Given the description of an element on the screen output the (x, y) to click on. 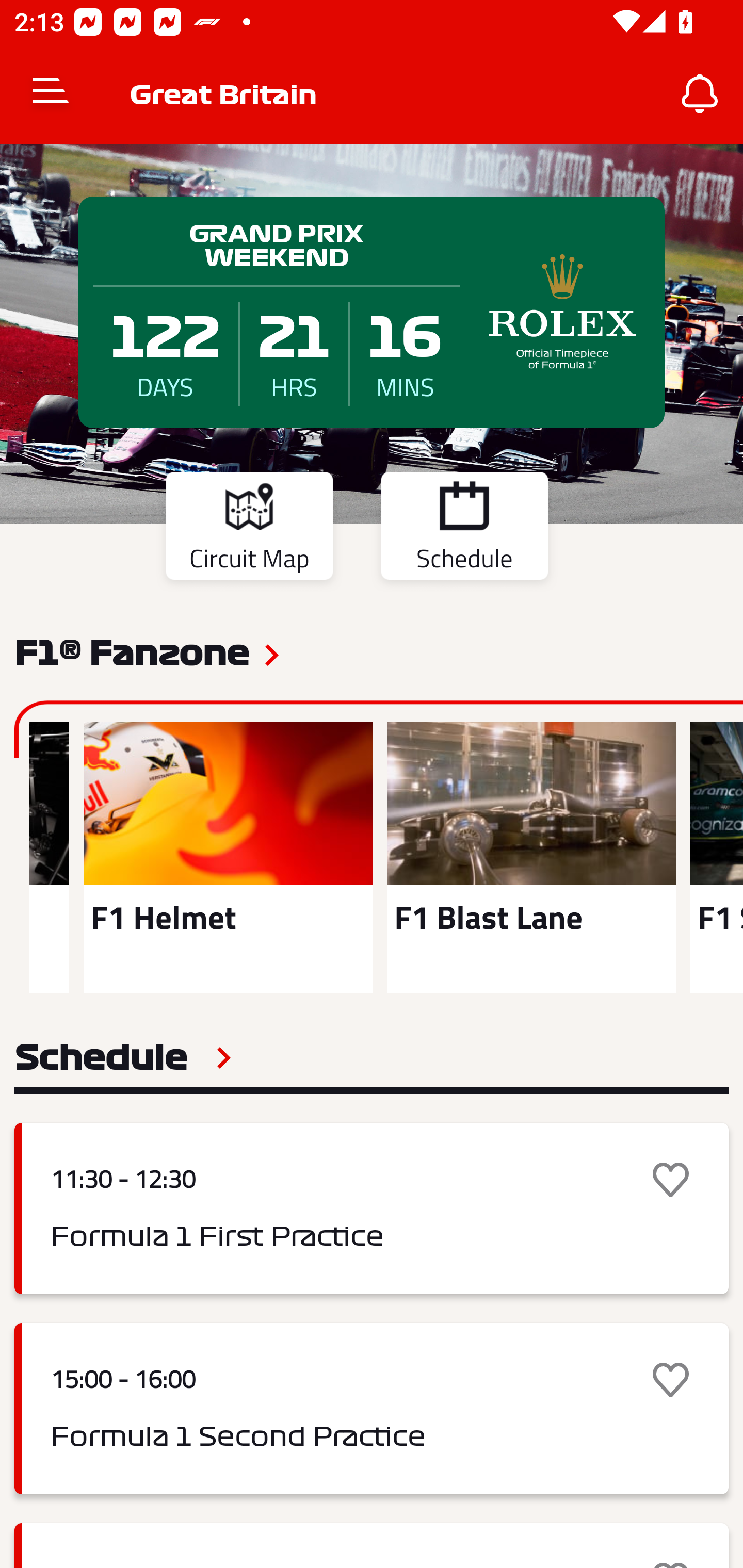
Navigate up (50, 93)
Notifications (699, 93)
Circuit Map (249, 528)
Schedule (464, 528)
F1® Fanzone (131, 651)
F1 Helmet (227, 857)
F1 Blast Lane (531, 857)
Schedule (122, 1057)
11:30 - 12:30 Formula 1 First Practice (371, 1207)
15:00 - 16:00 Formula 1 Second Practice (371, 1408)
